Given the description of an element on the screen output the (x, y) to click on. 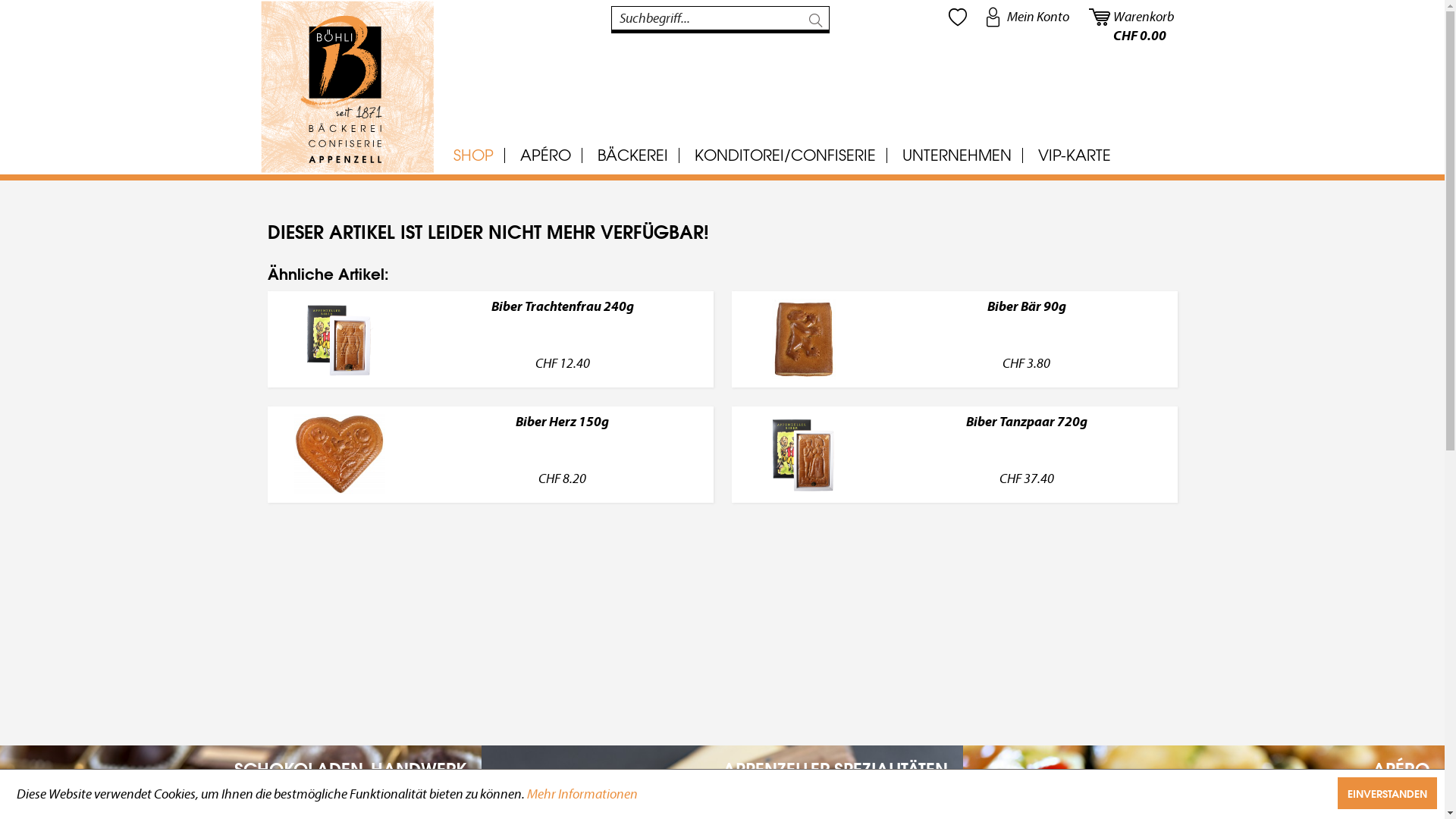
EINVERSTANDEN Element type: text (1387, 793)
Biber Tanzpaar 720g Element type: hover (803, 454)
SHOP Element type: text (472, 154)
Biber Trachtenfrau 240g Element type: hover (338, 338)
KONDITOREI/CONFISERIE Element type: text (784, 154)
Biber Tanzpaar 720g Element type: text (1026, 438)
Biber Herz 150g Element type: text (562, 438)
UNTERNEHMEN Element type: text (956, 154)
Biber Trachtenfrau 240g Element type: hover (339, 338)
Biber Trachtenfrau 240g Element type: text (562, 323)
Mein Konto Element type: text (1027, 17)
Biber Tanzpaar 720g Element type: hover (803, 454)
Kleines Biberherz mit Blumenrelief Element type: hover (339, 454)
Warenkorb
CHF 0.00 Element type: text (1131, 17)
Merkzettel Element type: hover (956, 17)
VIP-KARTE Element type: text (1074, 154)
Biber Herz 150g Element type: hover (339, 454)
Mehr Informationen Element type: text (582, 794)
